Given the description of an element on the screen output the (x, y) to click on. 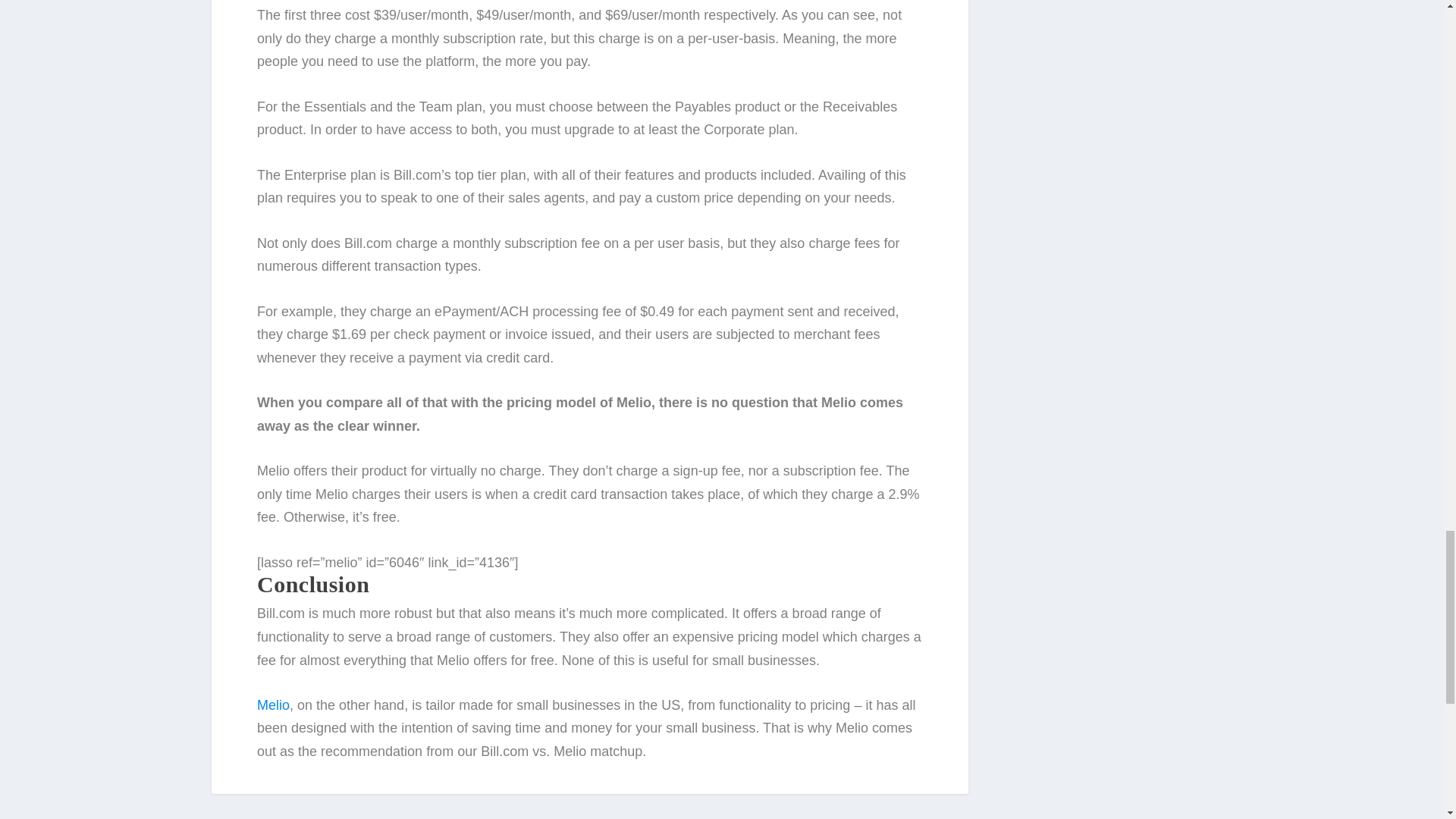
Melio (273, 704)
